Given the description of an element on the screen output the (x, y) to click on. 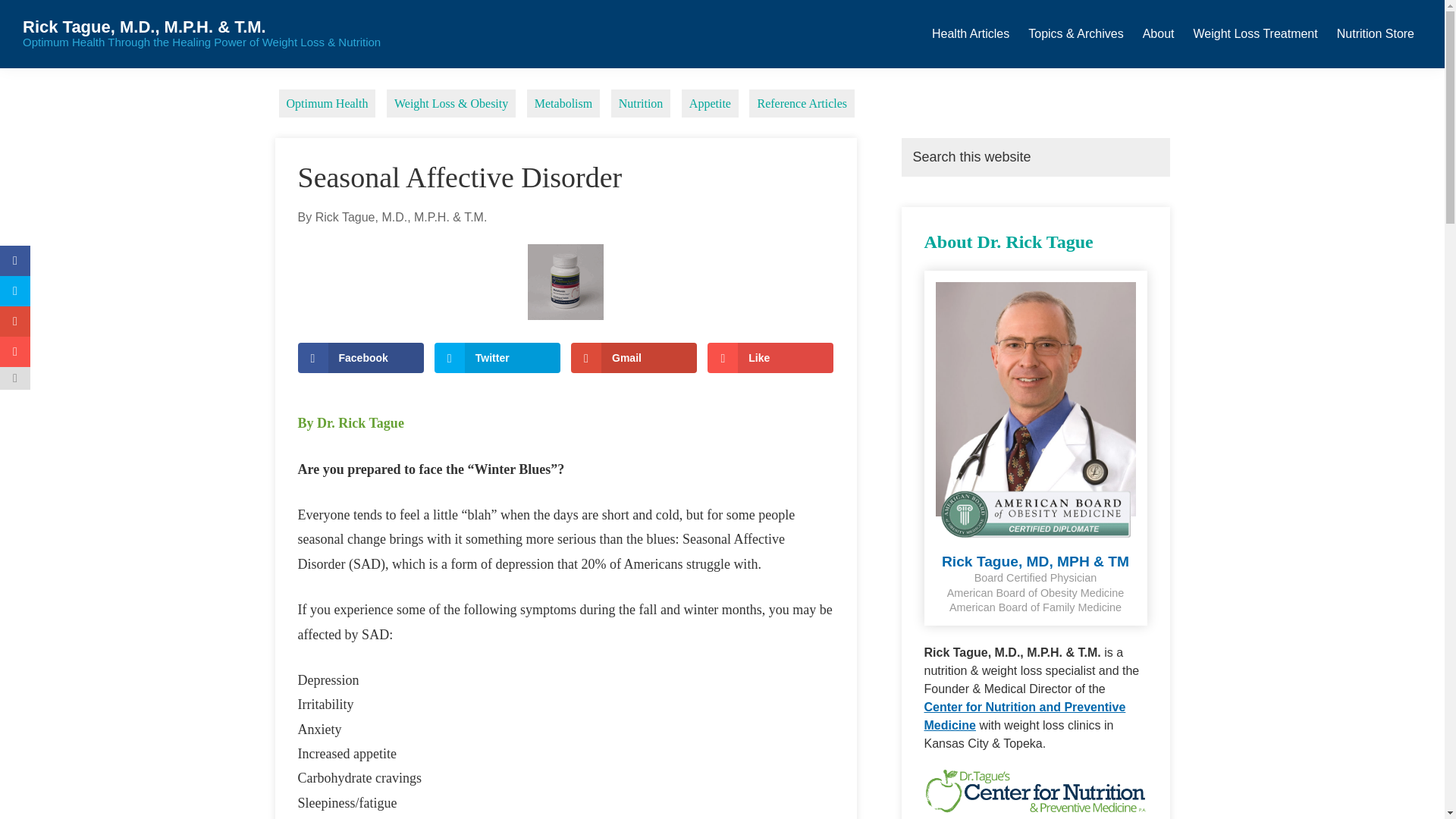
Weight Loss Treatment (1254, 33)
Nutrition Store (1375, 33)
Like (769, 358)
Metabolism (563, 103)
Optimum Health (327, 103)
About (1158, 33)
Reference Articles (801, 103)
Facebook (360, 358)
